Given the description of an element on the screen output the (x, y) to click on. 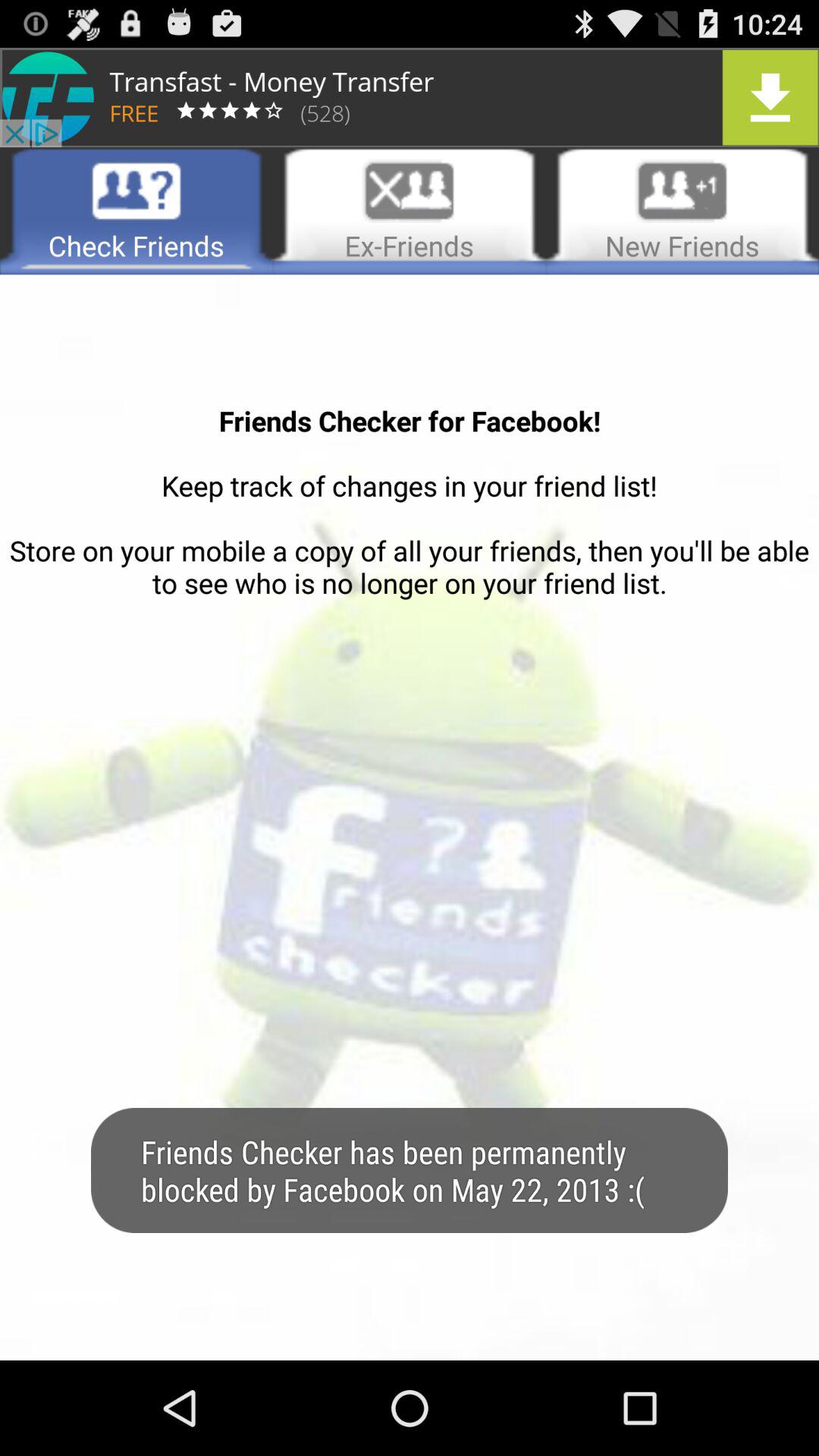
click the advertisement (409, 97)
